Given the description of an element on the screen output the (x, y) to click on. 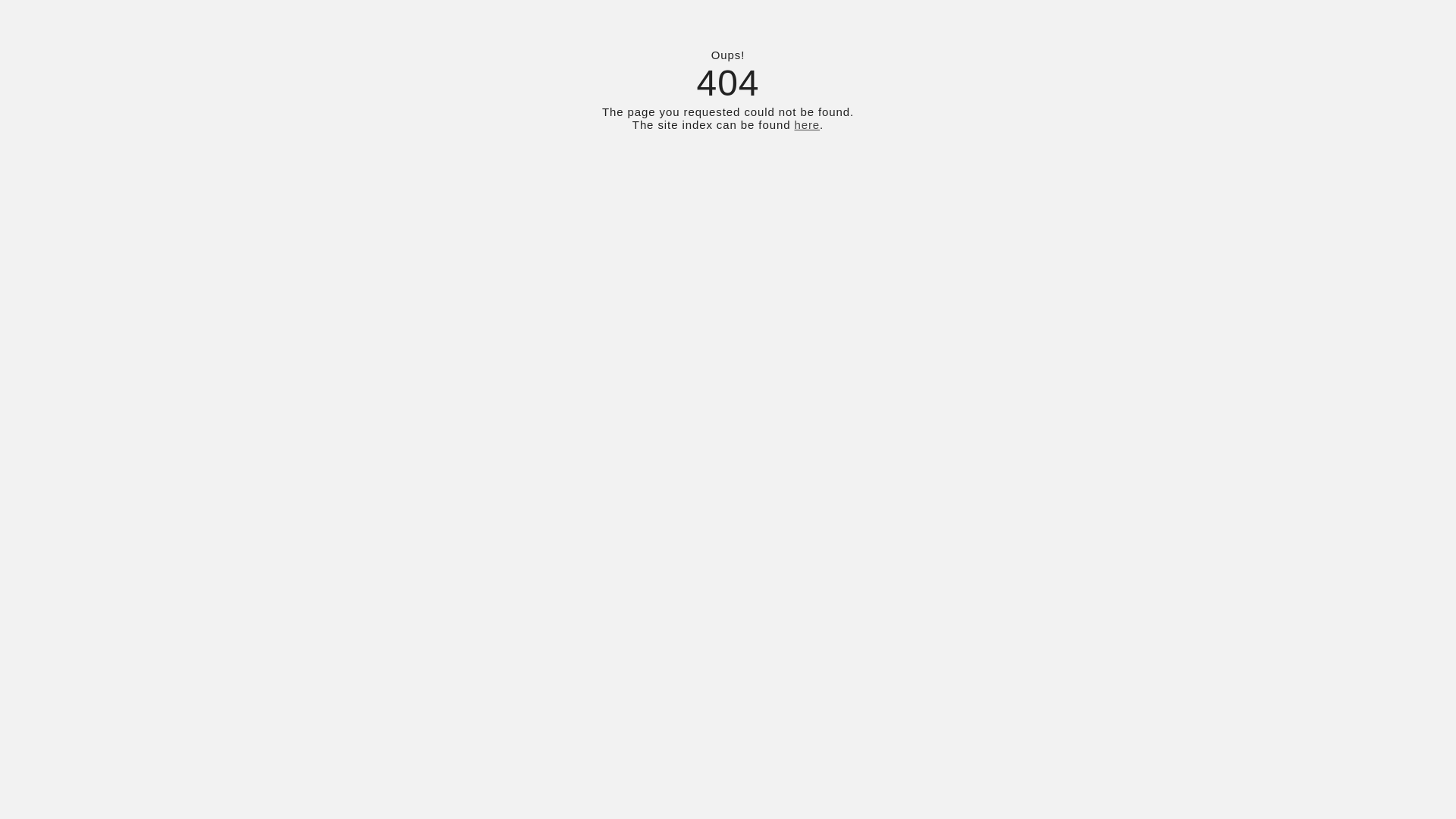
here Element type: text (806, 124)
